Given the description of an element on the screen output the (x, y) to click on. 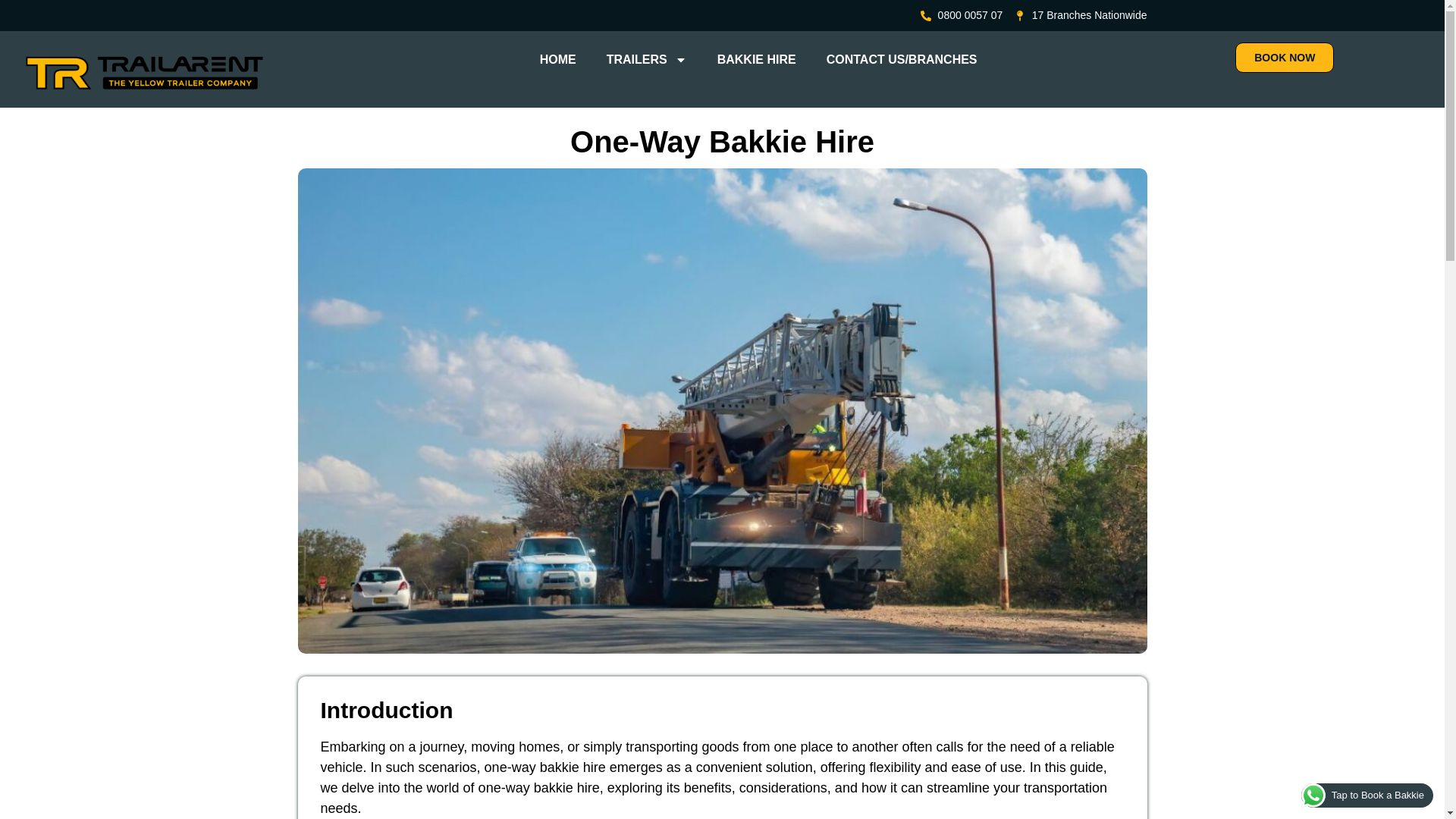
BAKKIE HIRE (755, 59)
BOOK NOW (1283, 57)
TRAILERS (646, 59)
0800 0057 07 (961, 15)
17 Branches Nationwide (1080, 15)
HOME (557, 59)
